Given the description of an element on the screen output the (x, y) to click on. 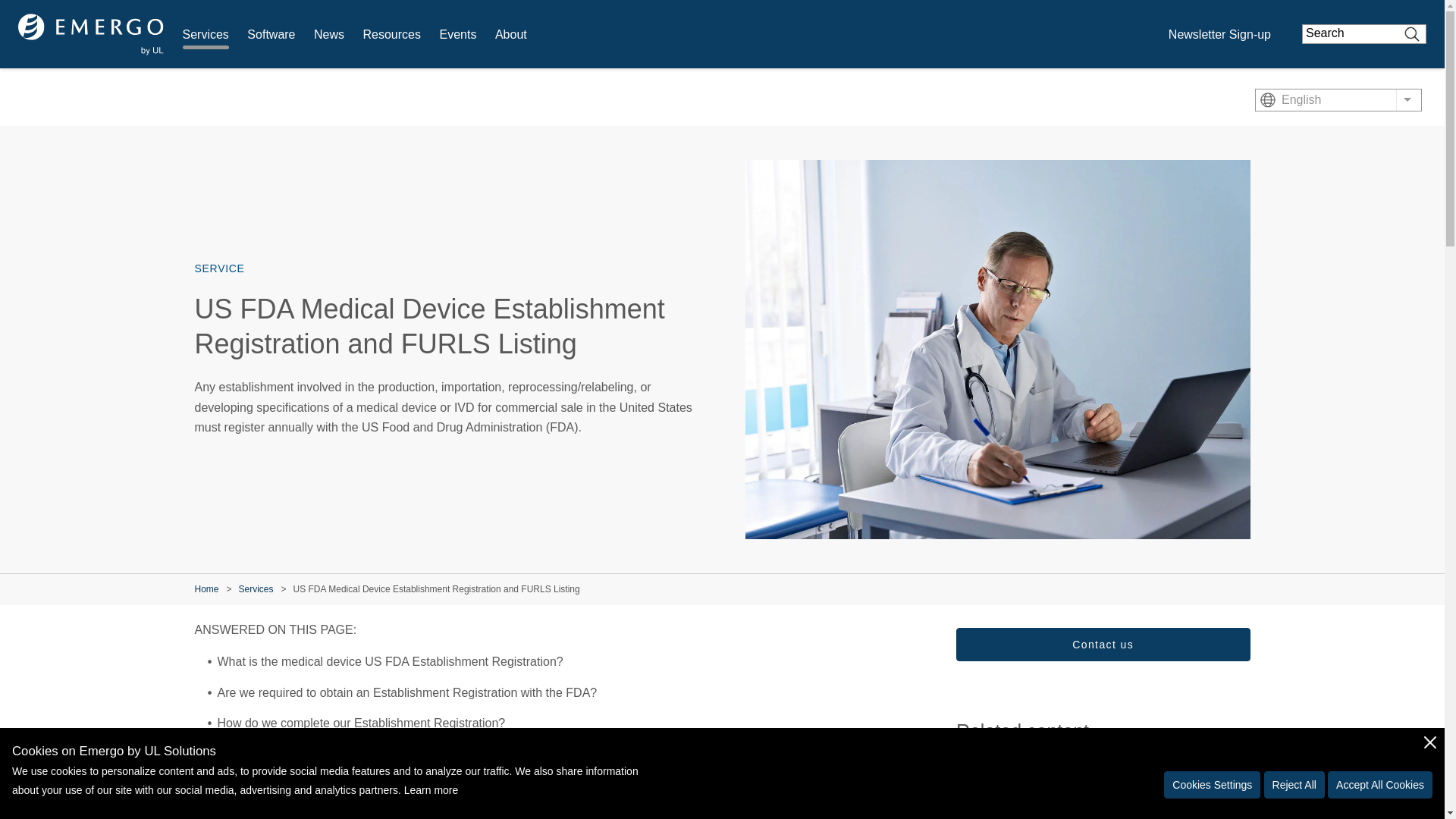
Software (271, 35)
Resources (391, 35)
News (328, 35)
Software (271, 35)
News (328, 35)
Services (205, 35)
Search (1411, 34)
Services (205, 35)
